Given the description of an element on the screen output the (x, y) to click on. 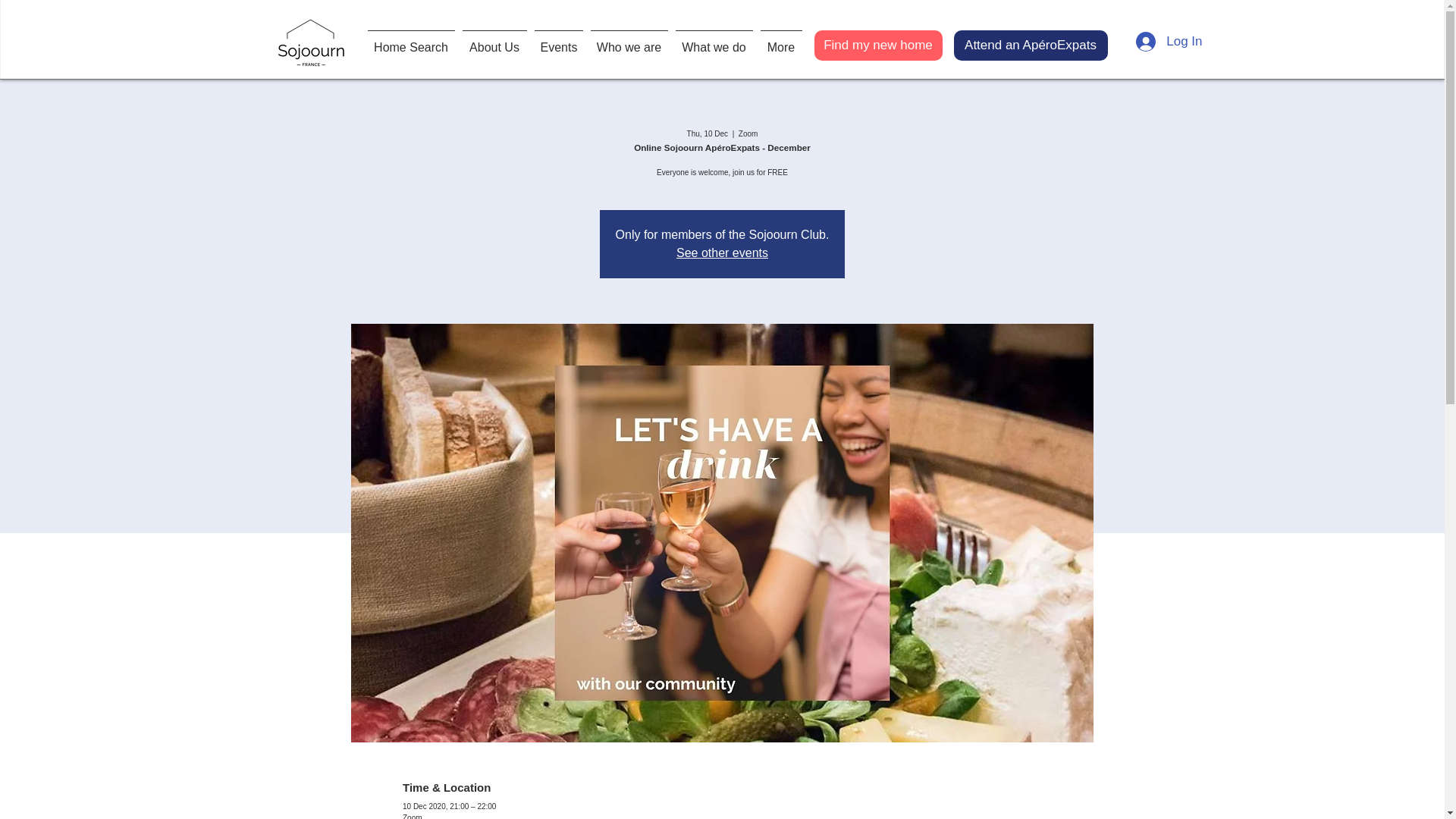
What we do (714, 40)
About Us (493, 40)
Events (558, 40)
Find my new home (877, 45)
Who we are (628, 40)
Home Search (411, 40)
Log In (1168, 41)
See other events (722, 252)
